Given the description of an element on the screen output the (x, y) to click on. 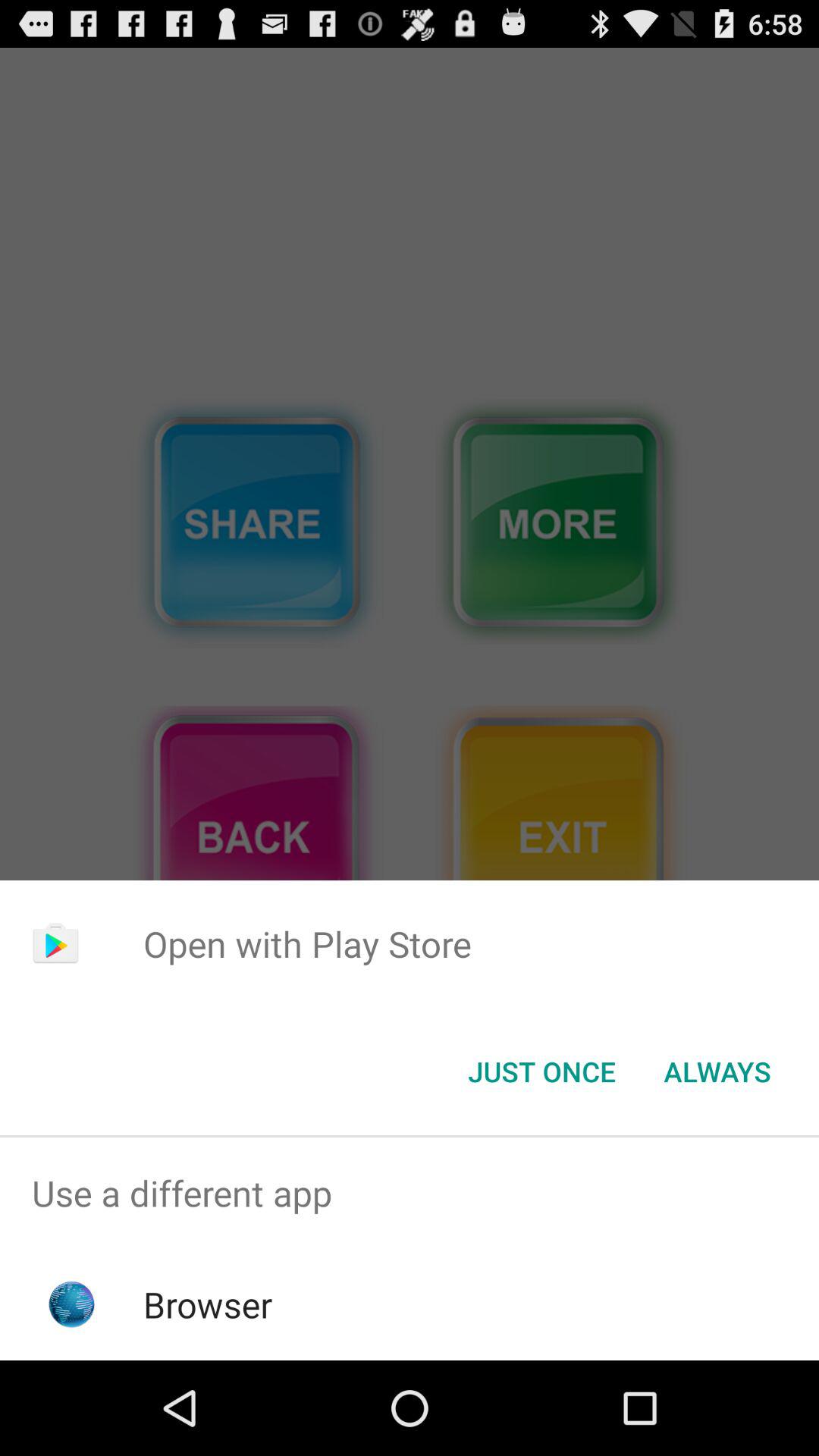
flip until the browser item (207, 1304)
